Given the description of an element on the screen output the (x, y) to click on. 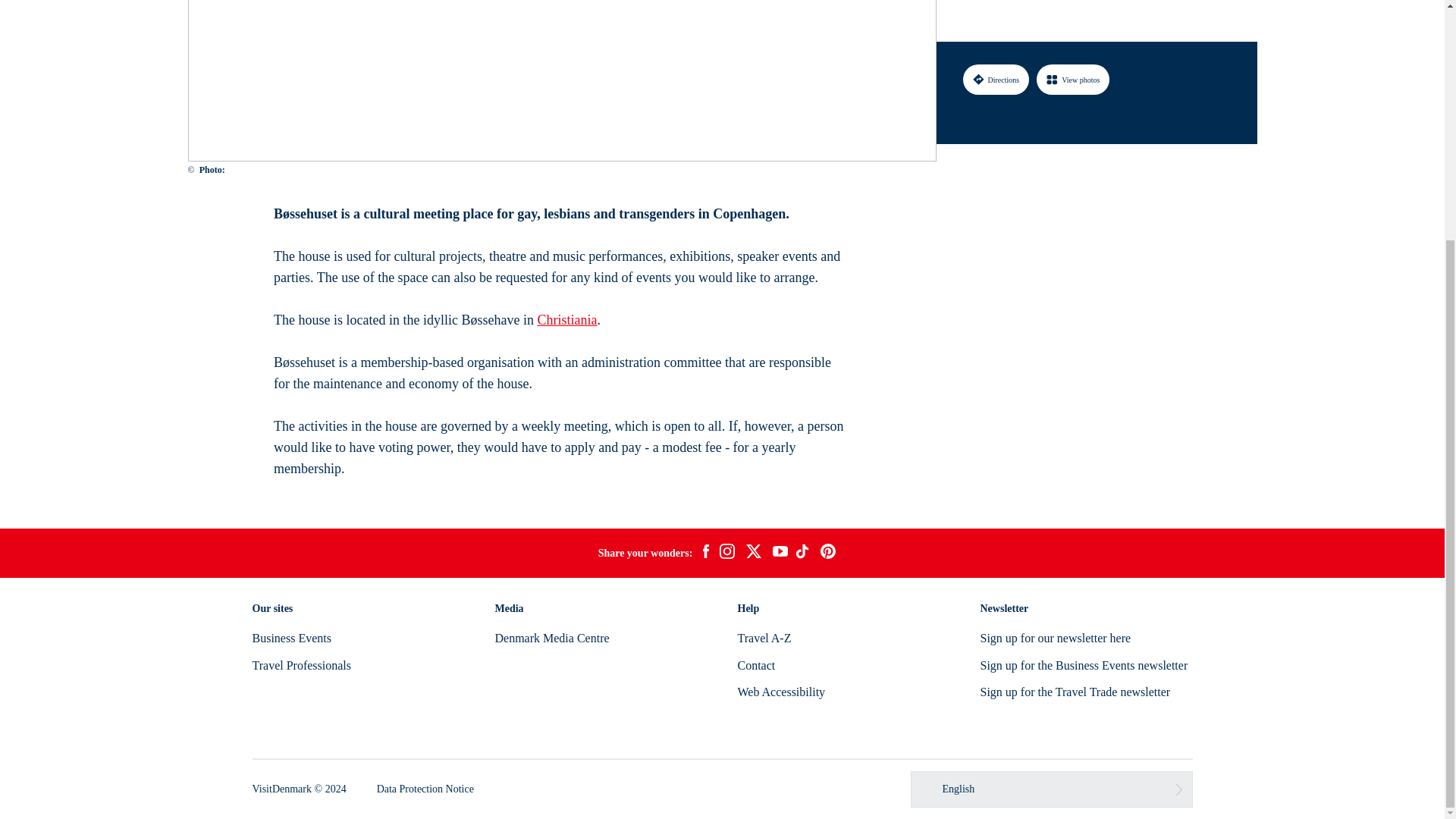
Denmark Media Centre (551, 637)
Sign up for our newsletter here (1055, 637)
Data Protection Notice (425, 789)
Business Events (290, 637)
Sign up for the Business Events newsletter (1083, 665)
Business Events (290, 637)
Travel A-Z (763, 637)
Christiania (566, 319)
Contact (755, 665)
facebook (705, 553)
tiktok (804, 553)
pinterest (828, 553)
instagram (726, 553)
Sign up for the Travel Trade newsletter (1074, 691)
Sign up for the Travel Trade newsletter (1074, 691)
